Given the description of an element on the screen output the (x, y) to click on. 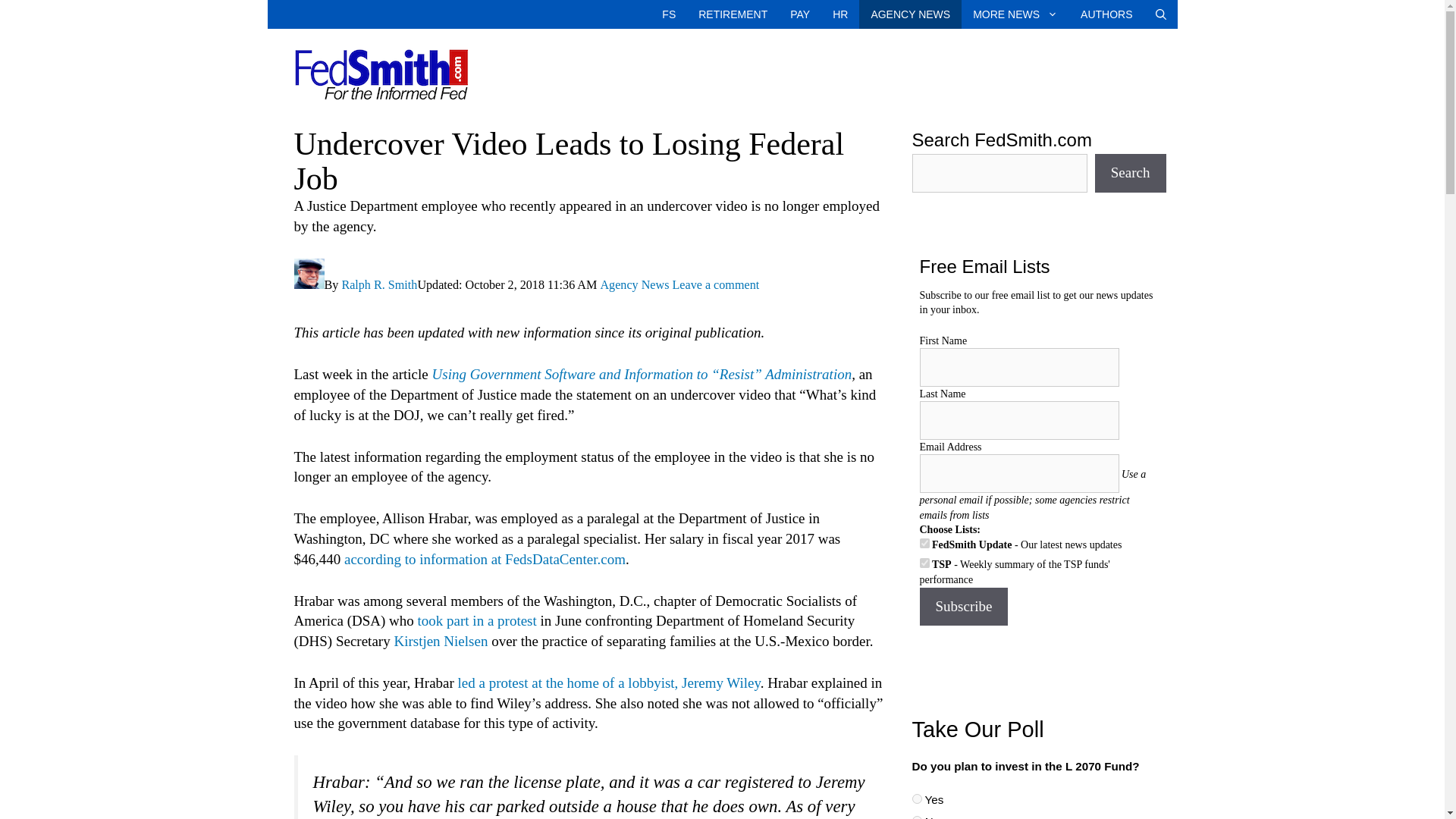
led a protest at the home of a lobbyist, Jeremy Wiley (609, 682)
took part in a protest (477, 620)
2 (923, 562)
AUTHORS (1105, 14)
Federal Human Resources News (840, 14)
HR (840, 14)
Federal Employee Retirement News (732, 14)
RETIREMENT (732, 14)
View all articles by Ralph R. Smith (378, 284)
AGENCY NEWS (909, 14)
Leave a comment (714, 284)
2329 (916, 798)
MORE NEWS (1014, 14)
1 (923, 542)
2330 (916, 817)
